Given the description of an element on the screen output the (x, y) to click on. 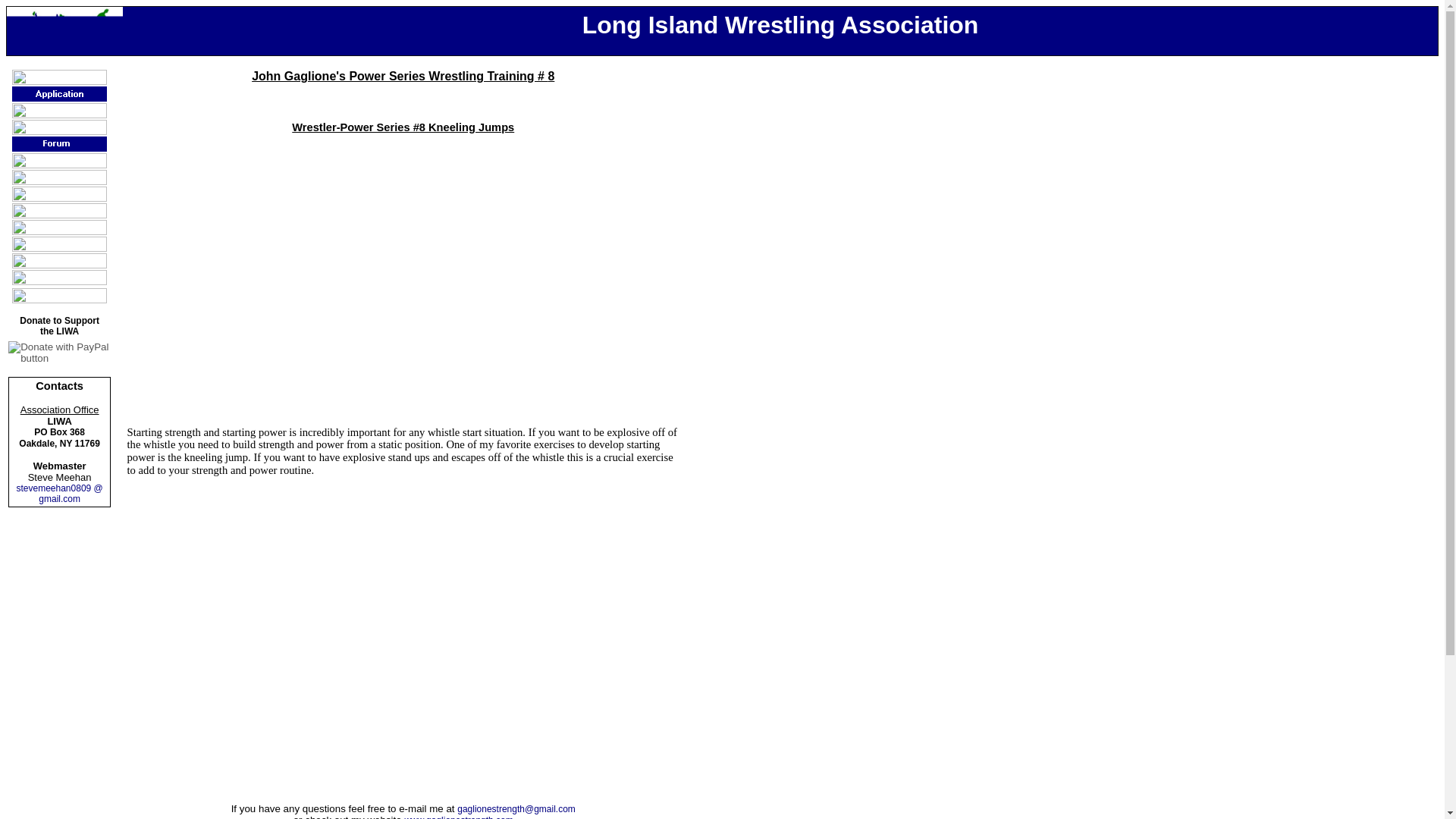
www.gaglionestrength.com (458, 816)
PayPal - The safer, easier way to pay online! (59, 352)
